Given the description of an element on the screen output the (x, y) to click on. 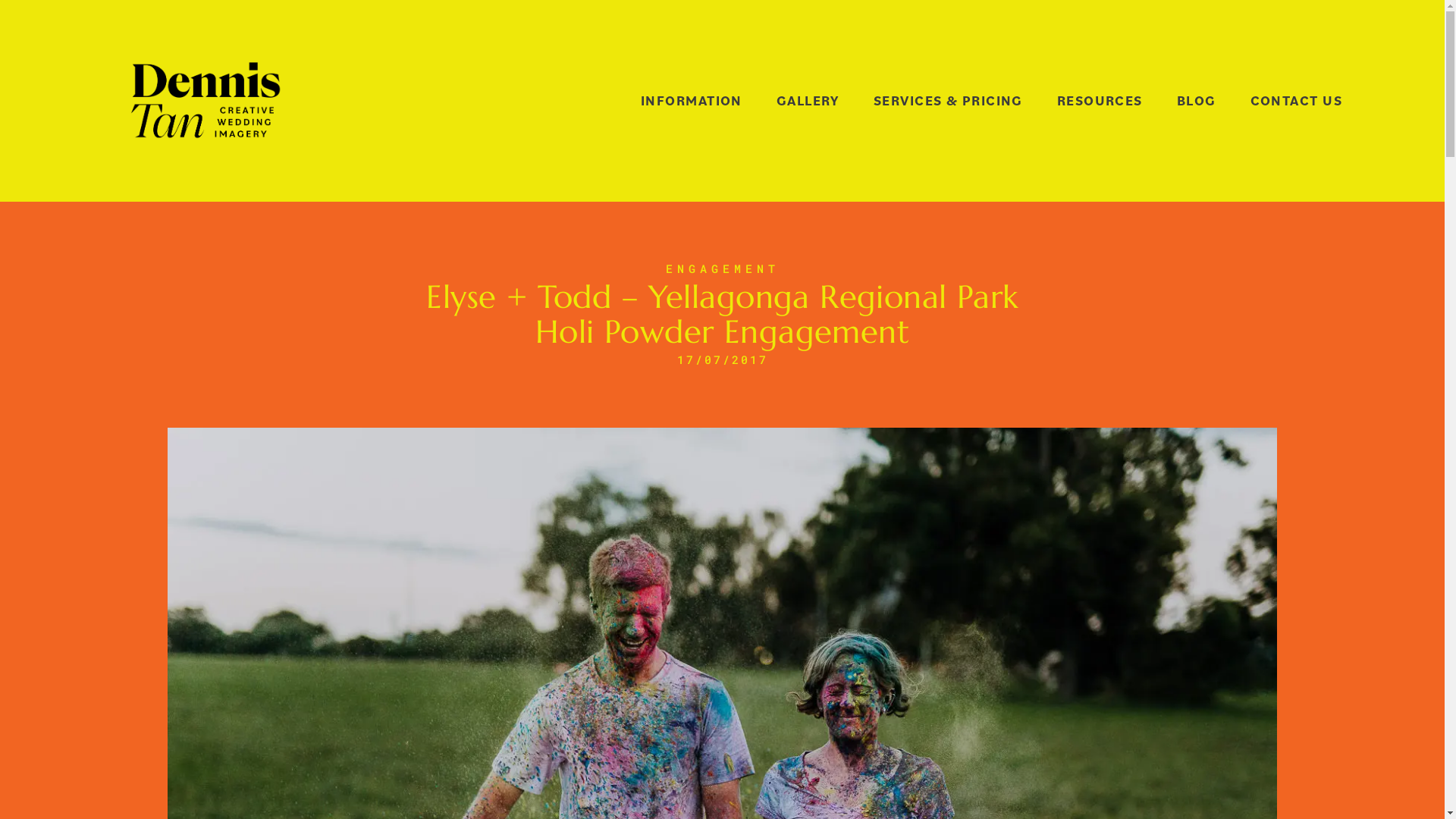
SERVICES & PRICING Element type: text (947, 100)
ENGAGEMENT Element type: text (722, 268)
INFORMATION Element type: text (691, 100)
GALLERY Element type: text (807, 100)
BLOG Element type: text (1196, 100)
RESOURCES Element type: text (1099, 100)
CONTACT US Element type: text (1296, 100)
